Given the description of an element on the screen output the (x, y) to click on. 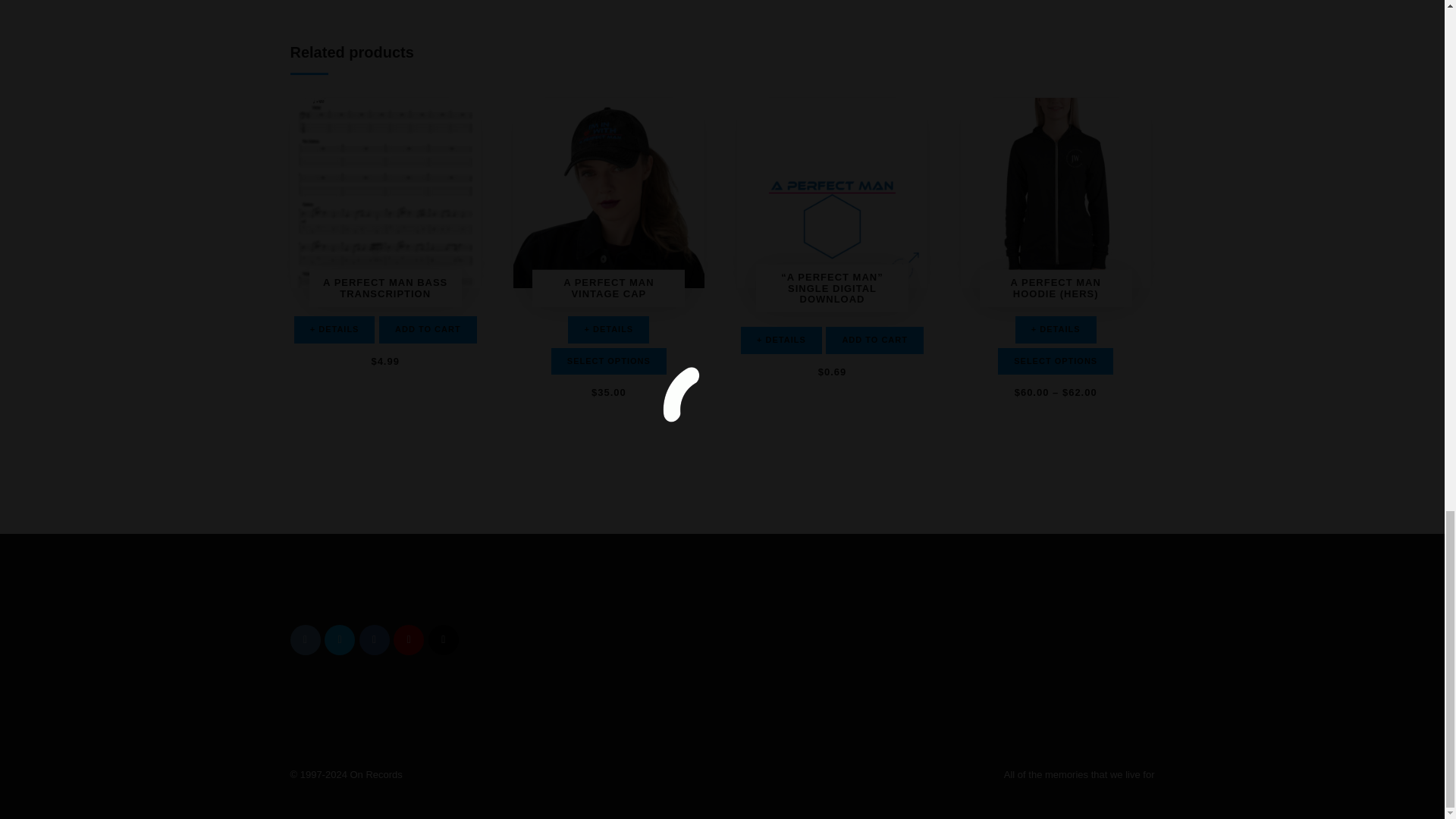
A PERFECT MAN BASS TRANSCRIPTION (384, 311)
A PERFECT MAN VINTAGE CAP (608, 311)
ADD TO CART (427, 329)
